Given the description of an element on the screen output the (x, y) to click on. 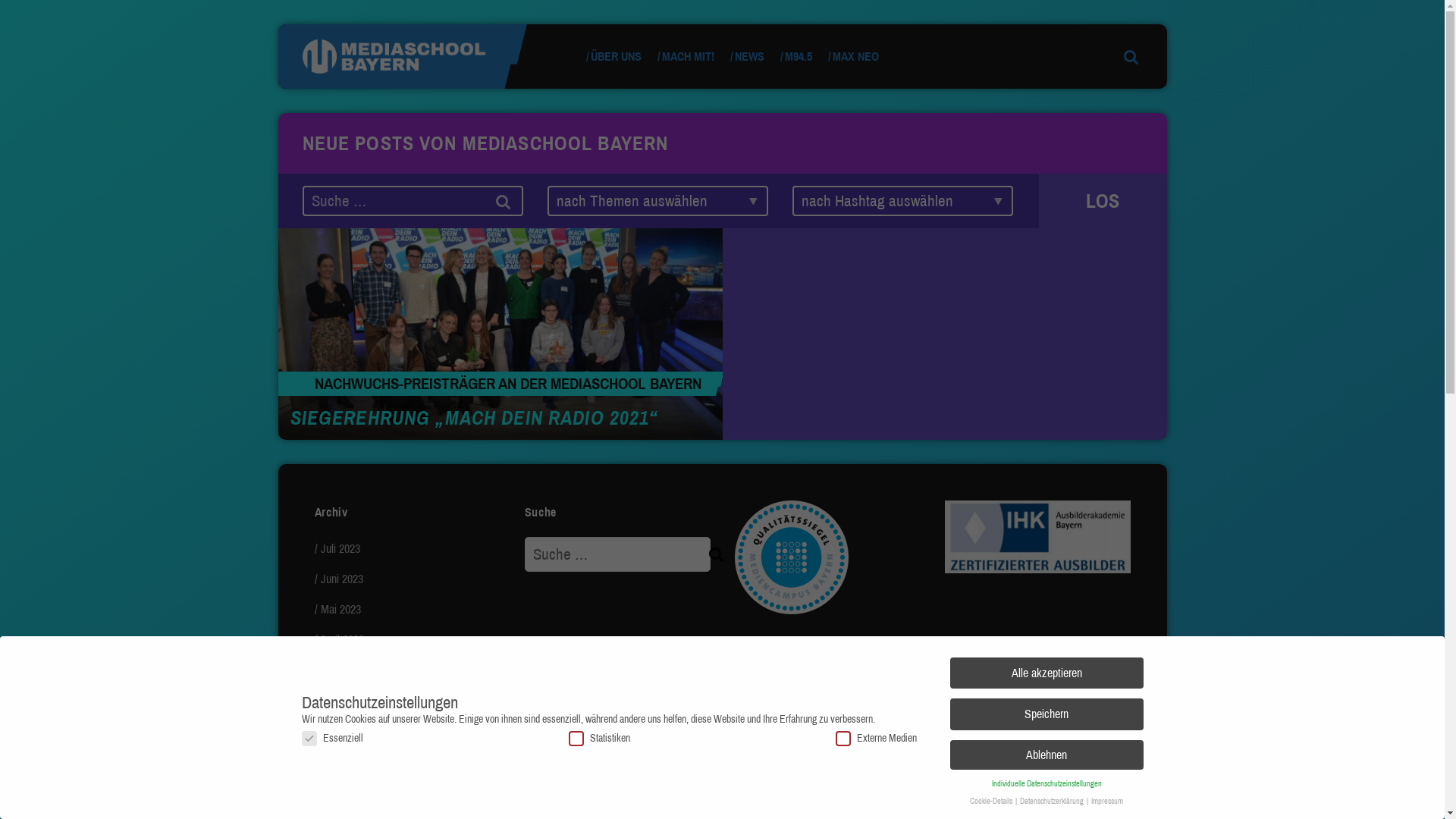
Speichern Element type: text (1045, 714)
Juli 2022 Element type: text (339, 730)
Juni 2023 Element type: text (341, 578)
Impressum Element type: text (1107, 801)
Mai 2022 Element type: text (340, 790)
MAX NEO Element type: text (853, 56)
Cookie-Details Element type: text (991, 801)
April 2023 Element type: text (342, 639)
MACH MIT! Element type: text (685, 56)
Januar 2023 Element type: text (346, 669)
Juni 2022 Element type: text (341, 760)
M94.5 Element type: text (796, 56)
NEWS Element type: text (747, 56)
Alle akzeptieren Element type: text (1045, 673)
Juli 2023 Element type: text (339, 548)
Individuelle Datenschutzeinstellungen Element type: text (1046, 783)
Ablehnen Element type: text (1045, 754)
LOS Element type: text (1102, 200)
Mai 2023 Element type: text (340, 608)
Oktober 2022 Element type: text (349, 699)
